Given the description of an element on the screen output the (x, y) to click on. 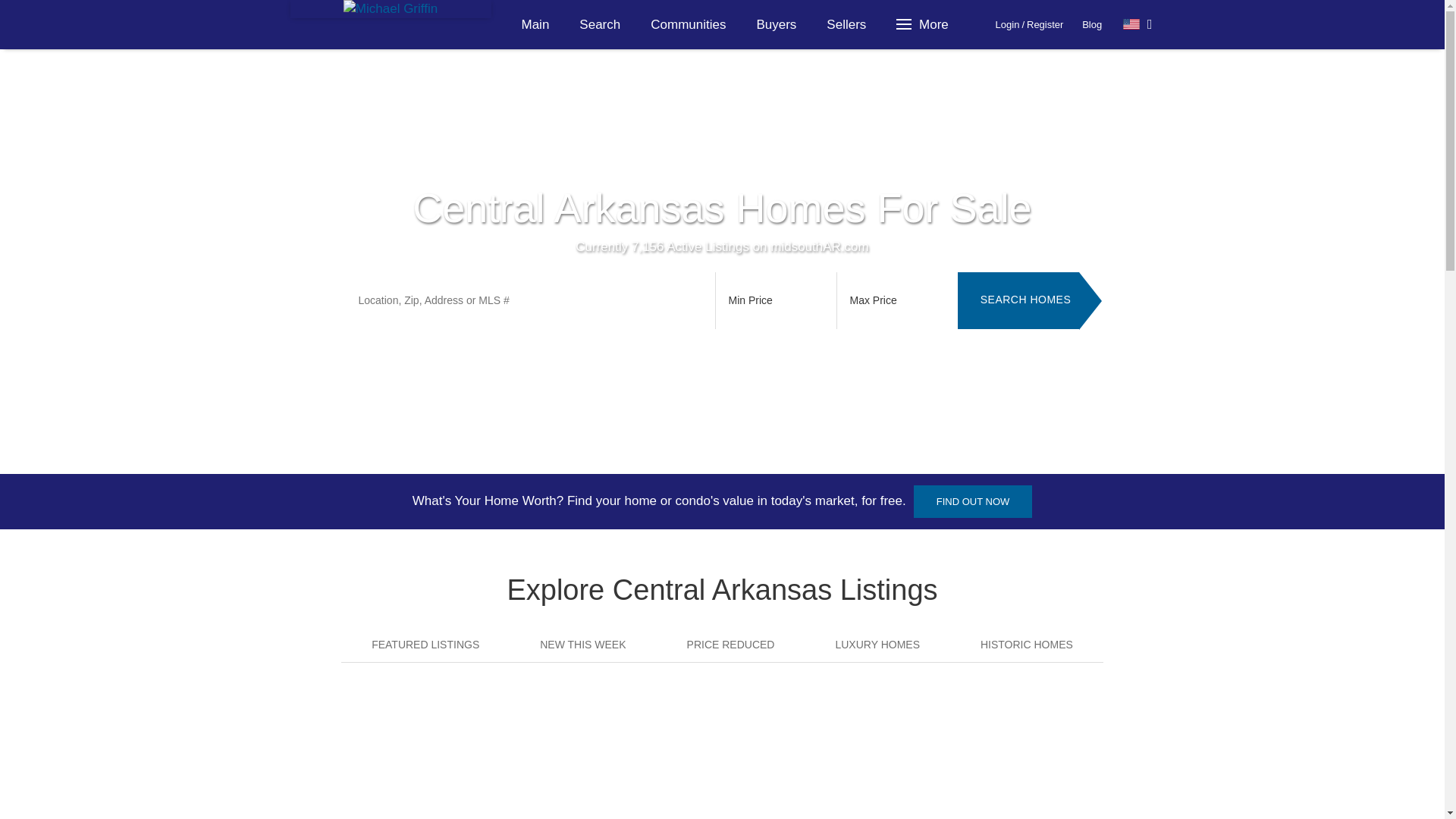
SEARCH HOMES (1017, 309)
Search (599, 24)
More (924, 24)
Select Language (1137, 24)
Main (535, 24)
Communities (687, 24)
Blog (1091, 24)
FIND OUT NOW (973, 501)
Register (1044, 24)
Buyers (775, 24)
